Given the description of an element on the screen output the (x, y) to click on. 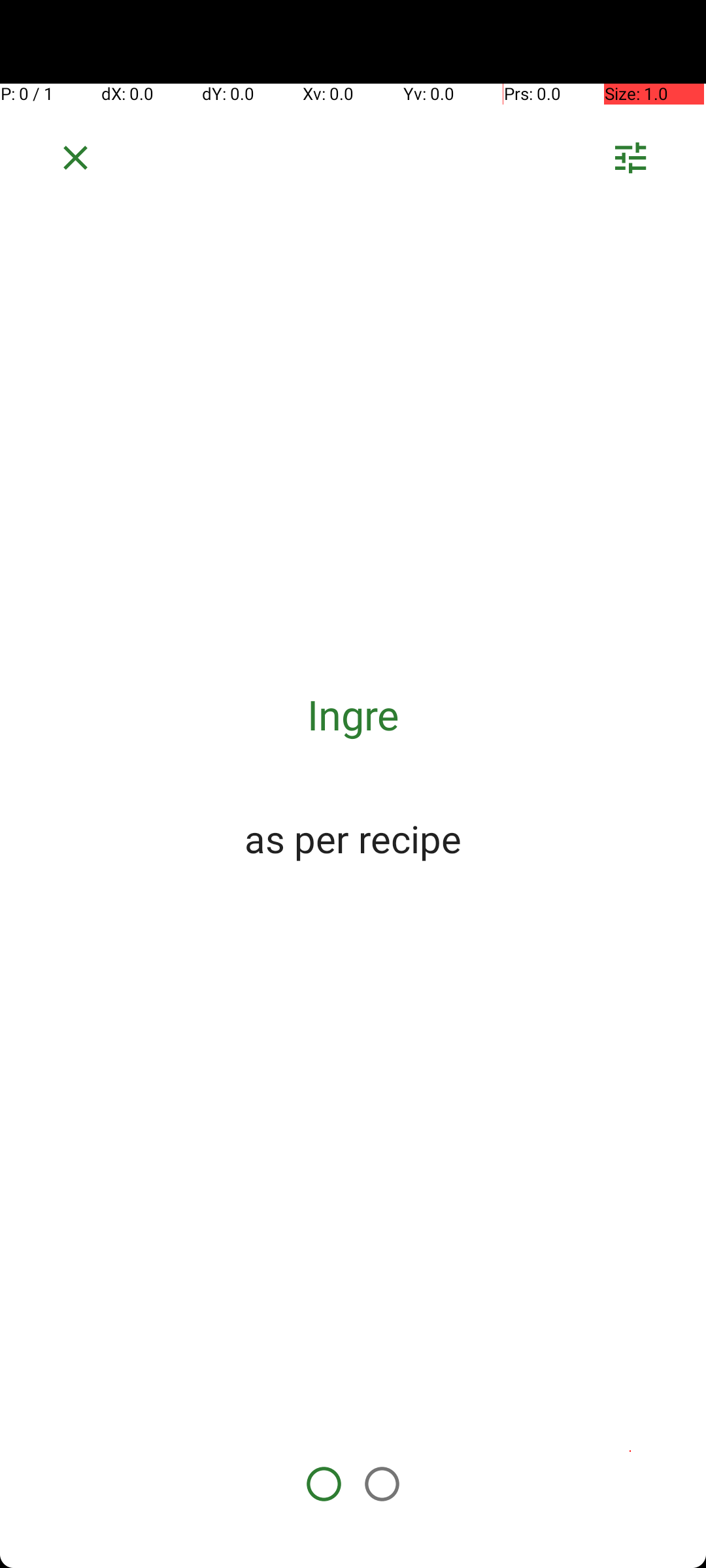
as per recipe Element type: android.widget.TextView (353, 838)
